Given the description of an element on the screen output the (x, y) to click on. 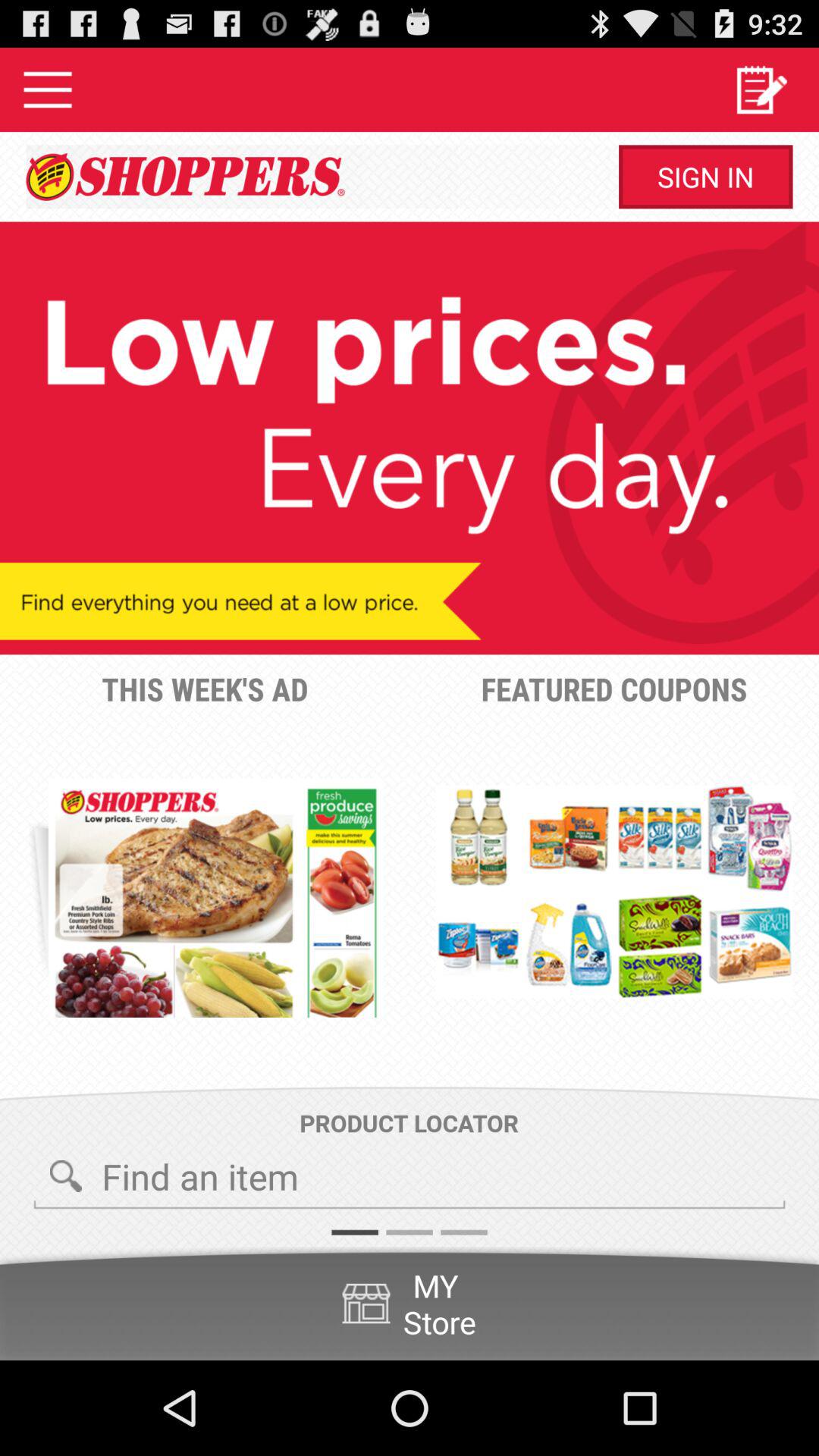
press the item to the left of the featured coupons icon (215, 898)
